Given the description of an element on the screen output the (x, y) to click on. 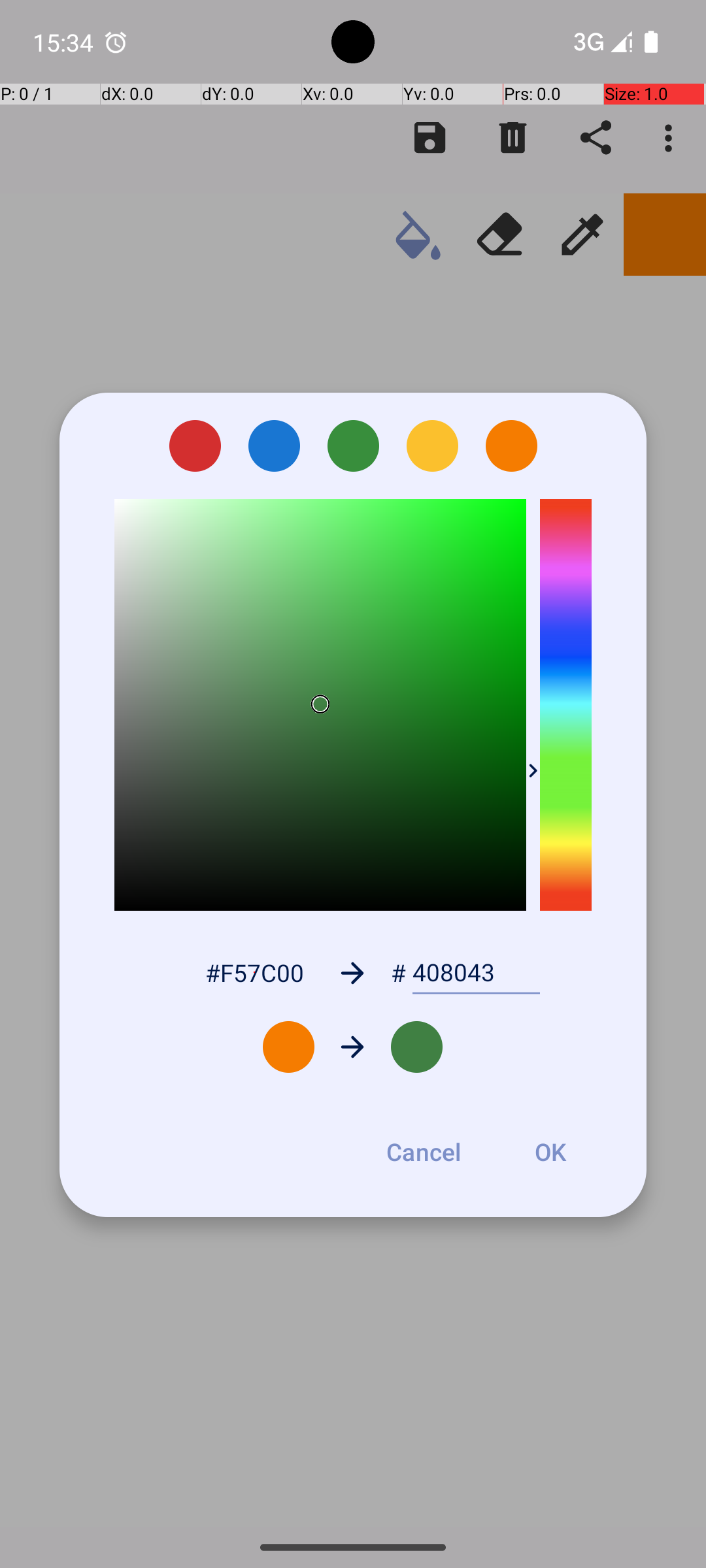
408043 Element type: android.widget.EditText (475, 972)
